Given the description of an element on the screen output the (x, y) to click on. 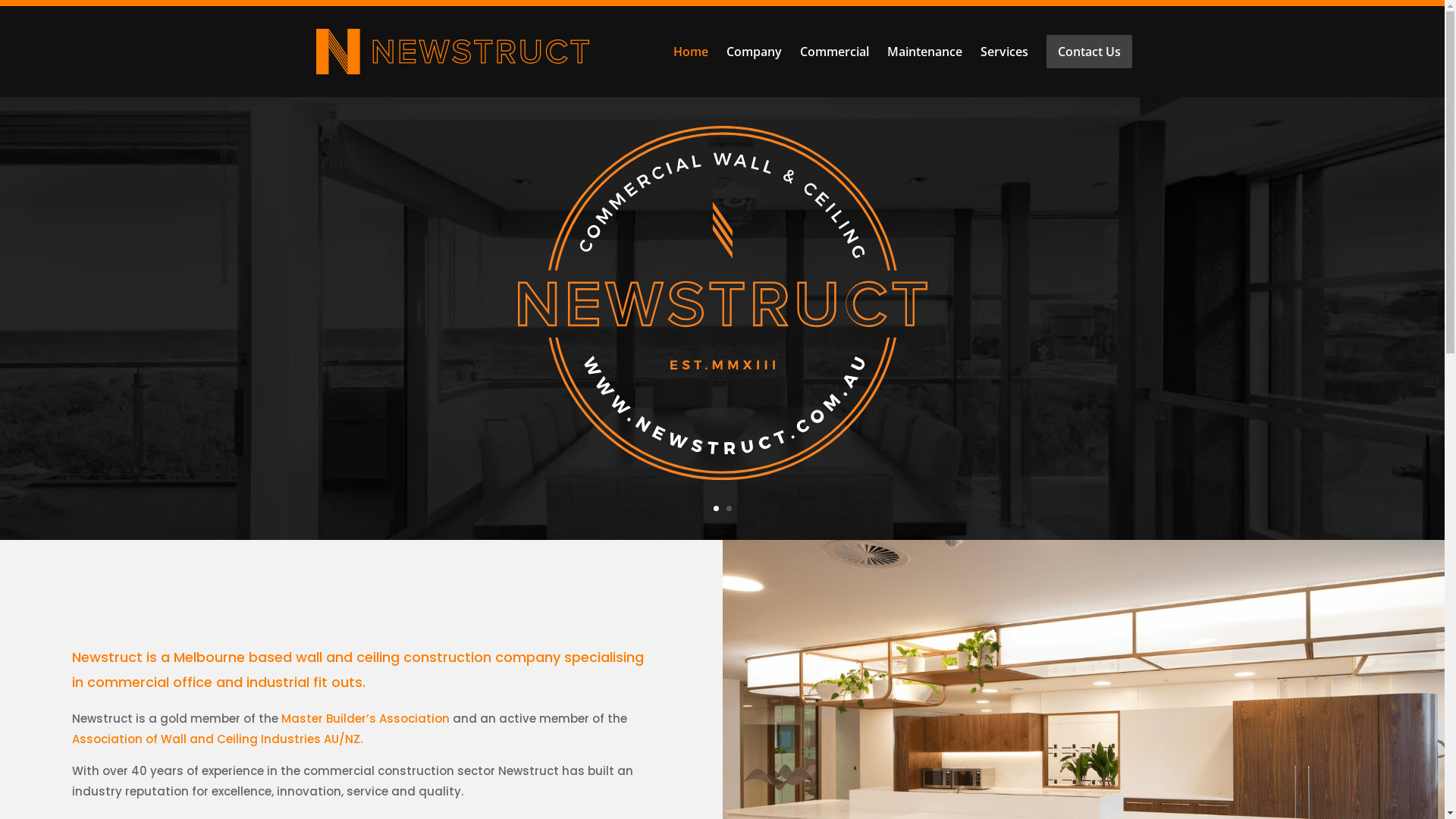
2 Element type: text (728, 507)
1 Element type: text (715, 507)
Maintenance Element type: text (924, 51)
Services Element type: text (1003, 51)
Commercial Element type: text (833, 51)
Association of Wall and Ceiling Industries AU/NZ. Element type: text (217, 738)
Contact Us Element type: text (1089, 51)
Home Element type: text (690, 51)
Company Element type: text (753, 51)
